Given the description of an element on the screen output the (x, y) to click on. 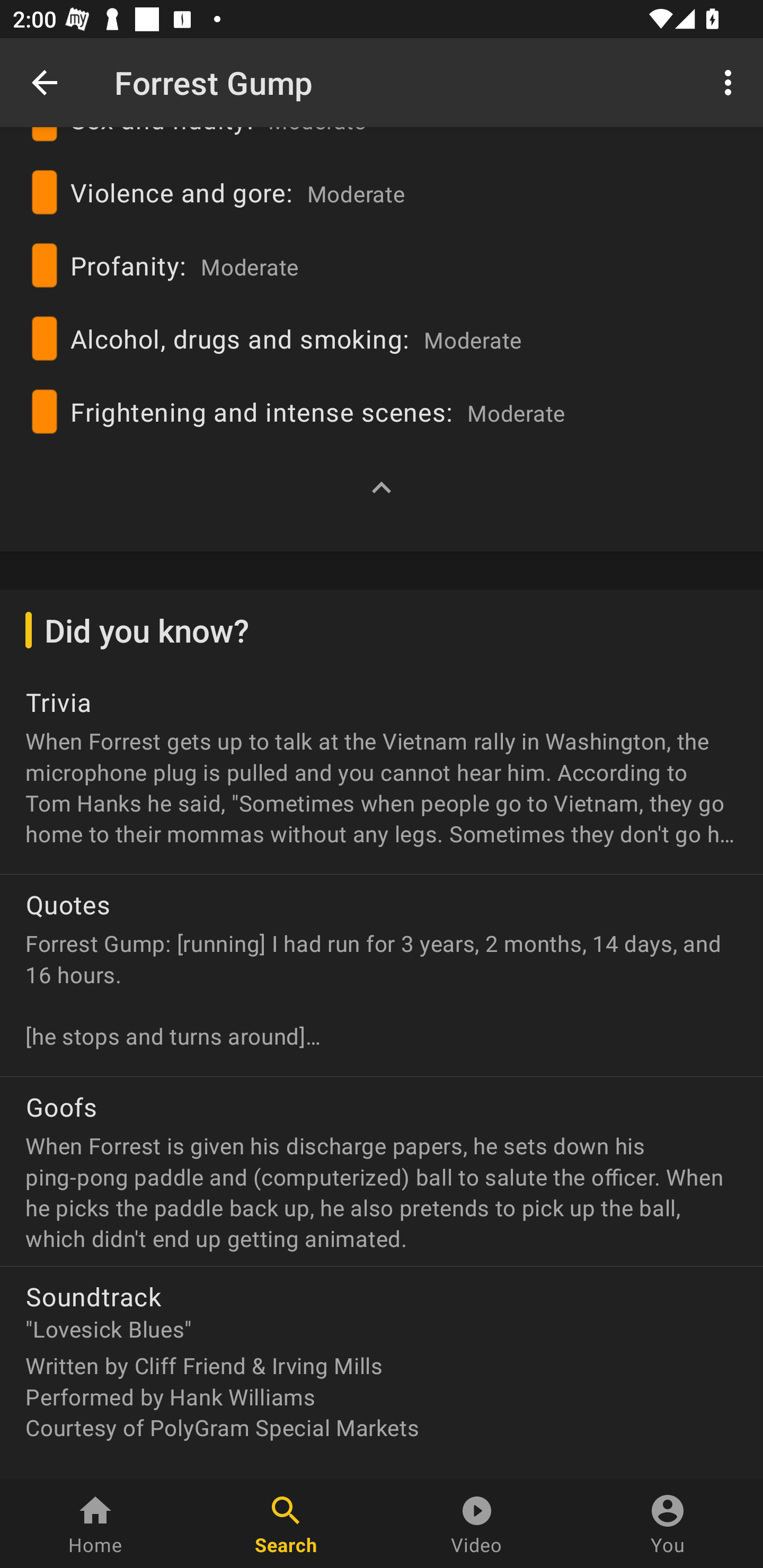
More options (731, 81)
Home (95, 1523)
Video (476, 1523)
You (667, 1523)
